Given the description of an element on the screen output the (x, y) to click on. 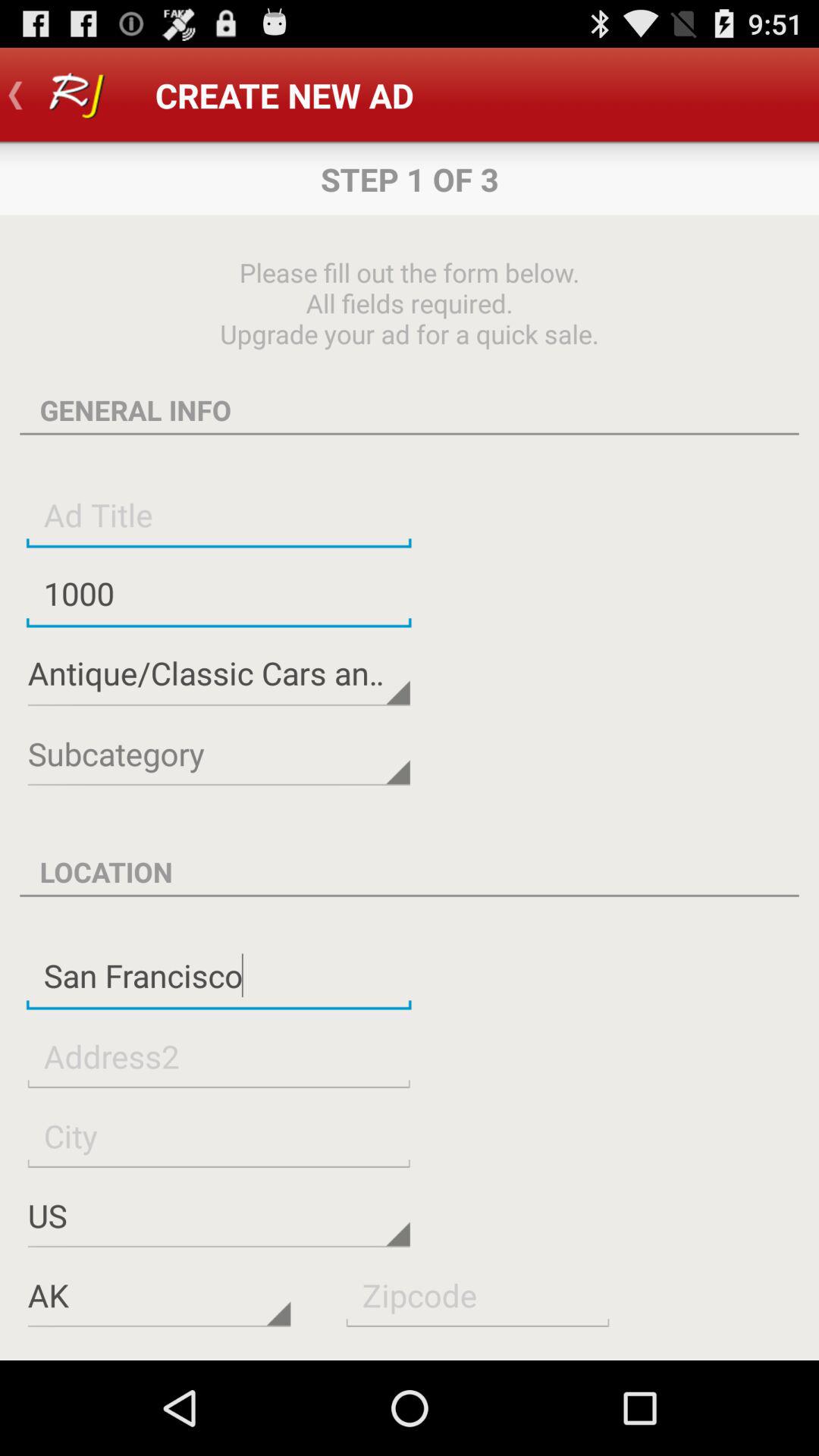
insert advertisement title (218, 514)
